Given the description of an element on the screen output the (x, y) to click on. 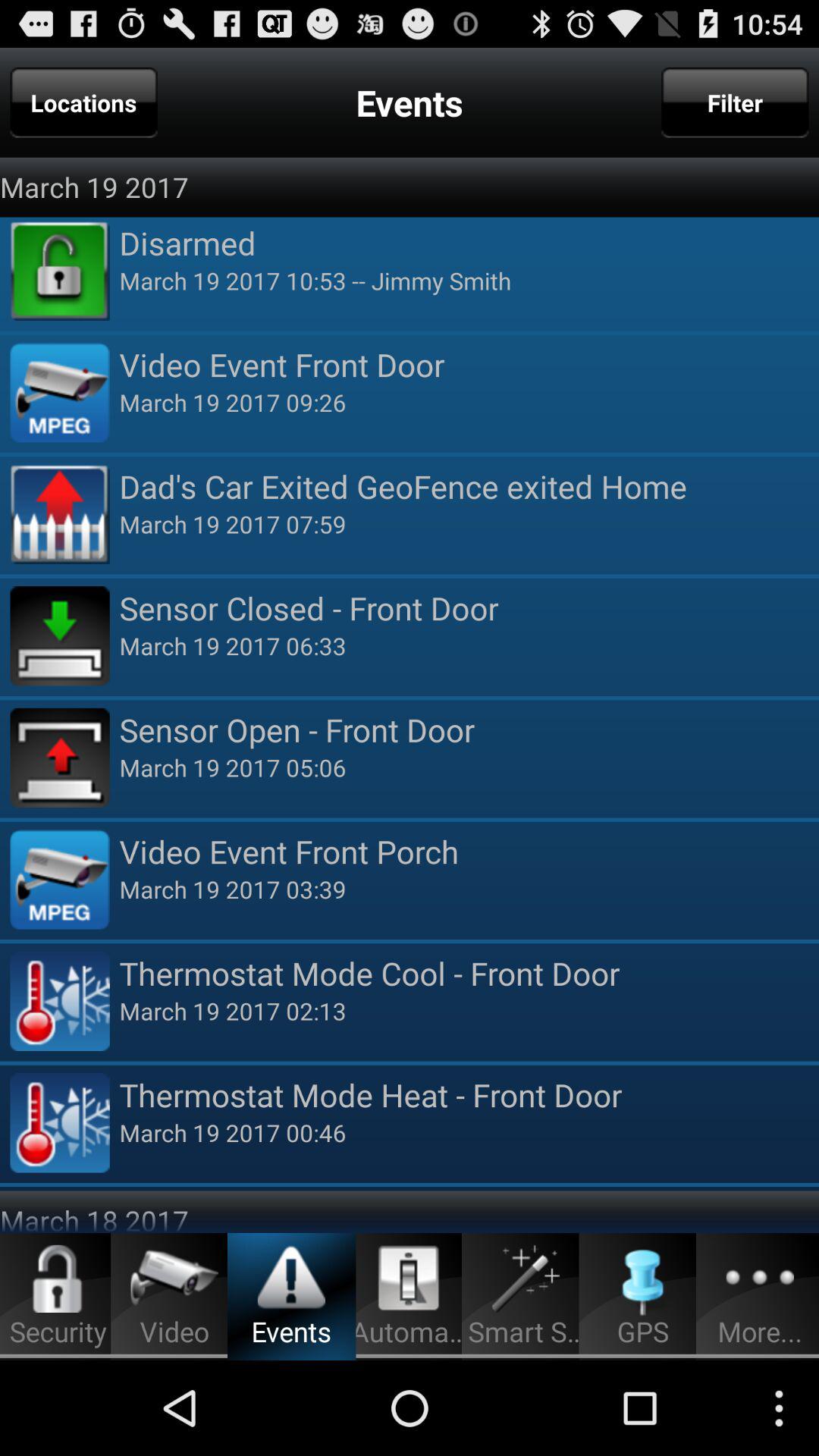
scroll to dad s car (469, 485)
